Given the description of an element on the screen output the (x, y) to click on. 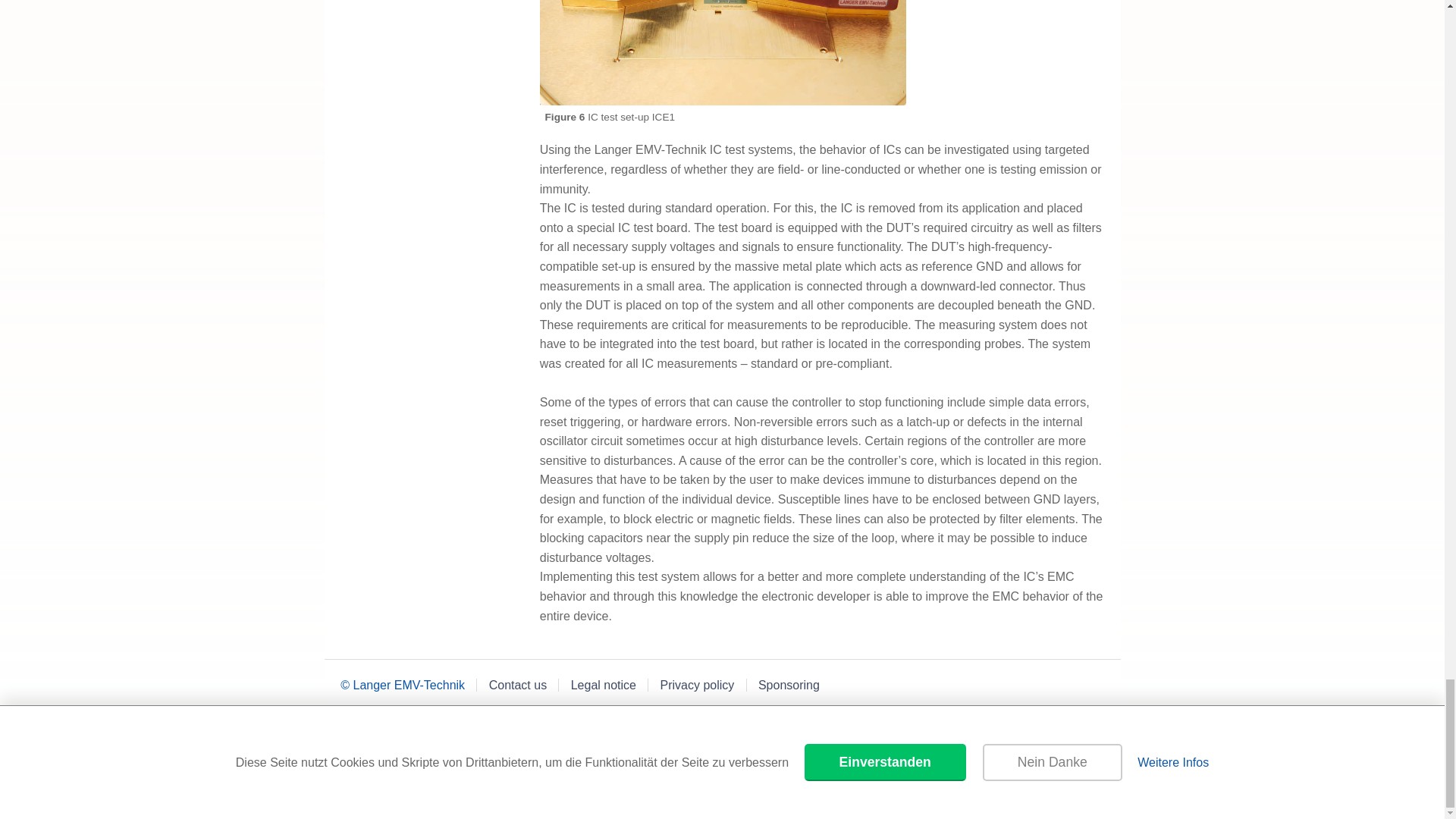
youtube (405, 759)
facebook (357, 759)
twitter (499, 759)
linked-in (452, 759)
